Given the description of an element on the screen output the (x, y) to click on. 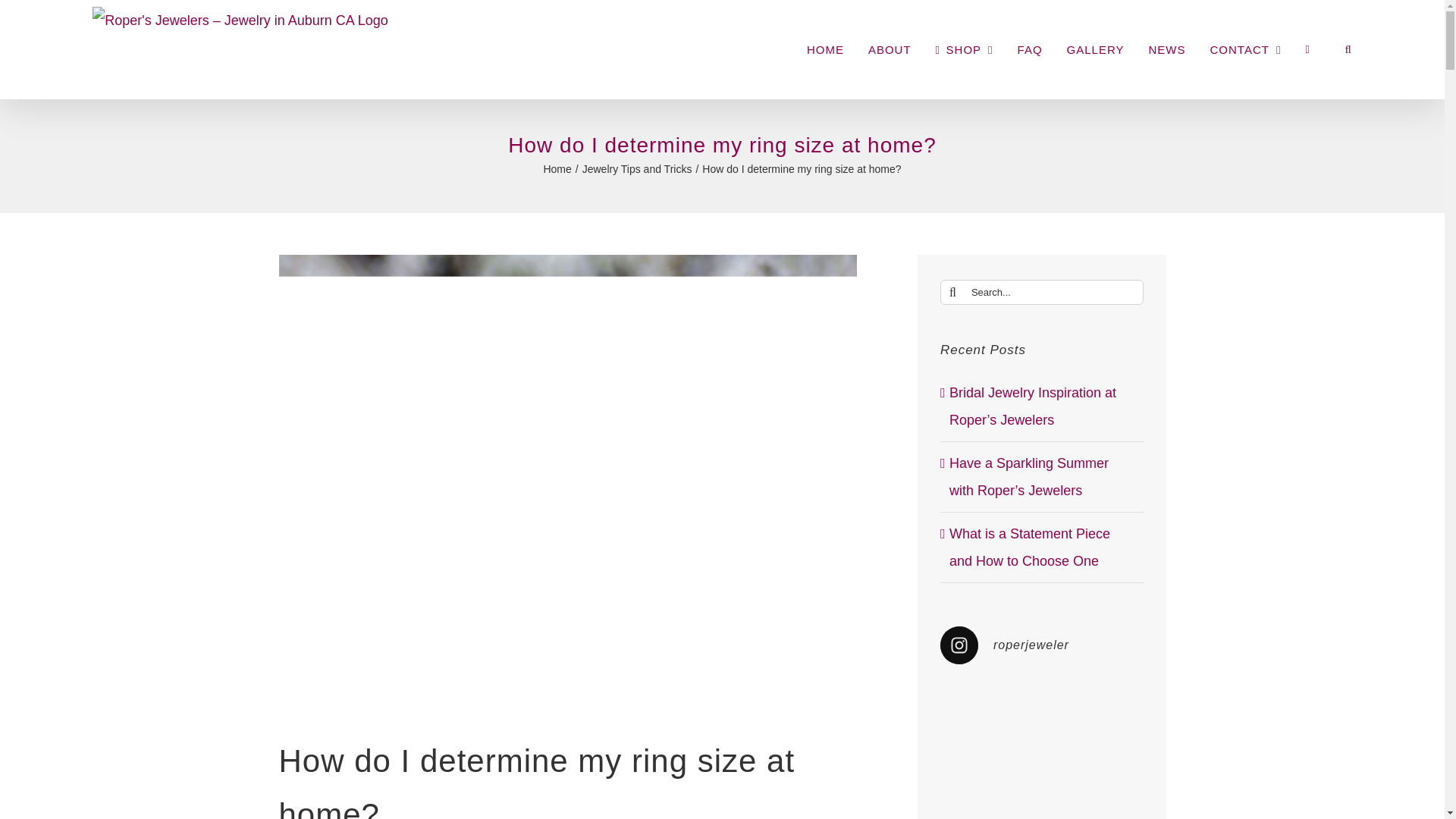
NEWS (1167, 49)
FAQ (1029, 49)
Jewelry Tips and Tricks (637, 168)
SHOP (964, 49)
GALLERY (1095, 49)
HOME (825, 49)
Home (556, 168)
CONTACT (1245, 49)
ABOUT (889, 49)
